Given the description of an element on the screen output the (x, y) to click on. 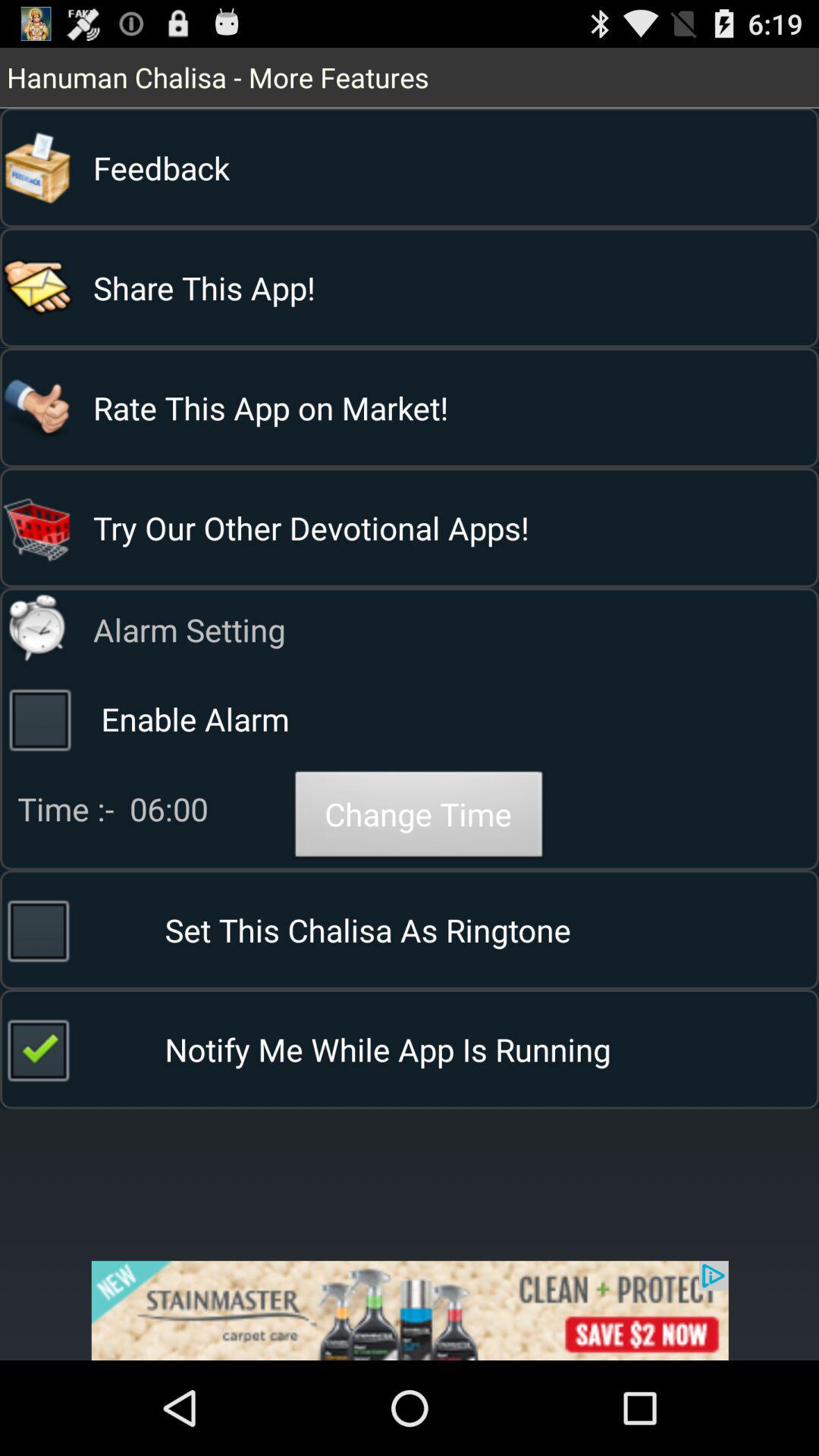
advertisement box (409, 1310)
